Given the description of an element on the screen output the (x, y) to click on. 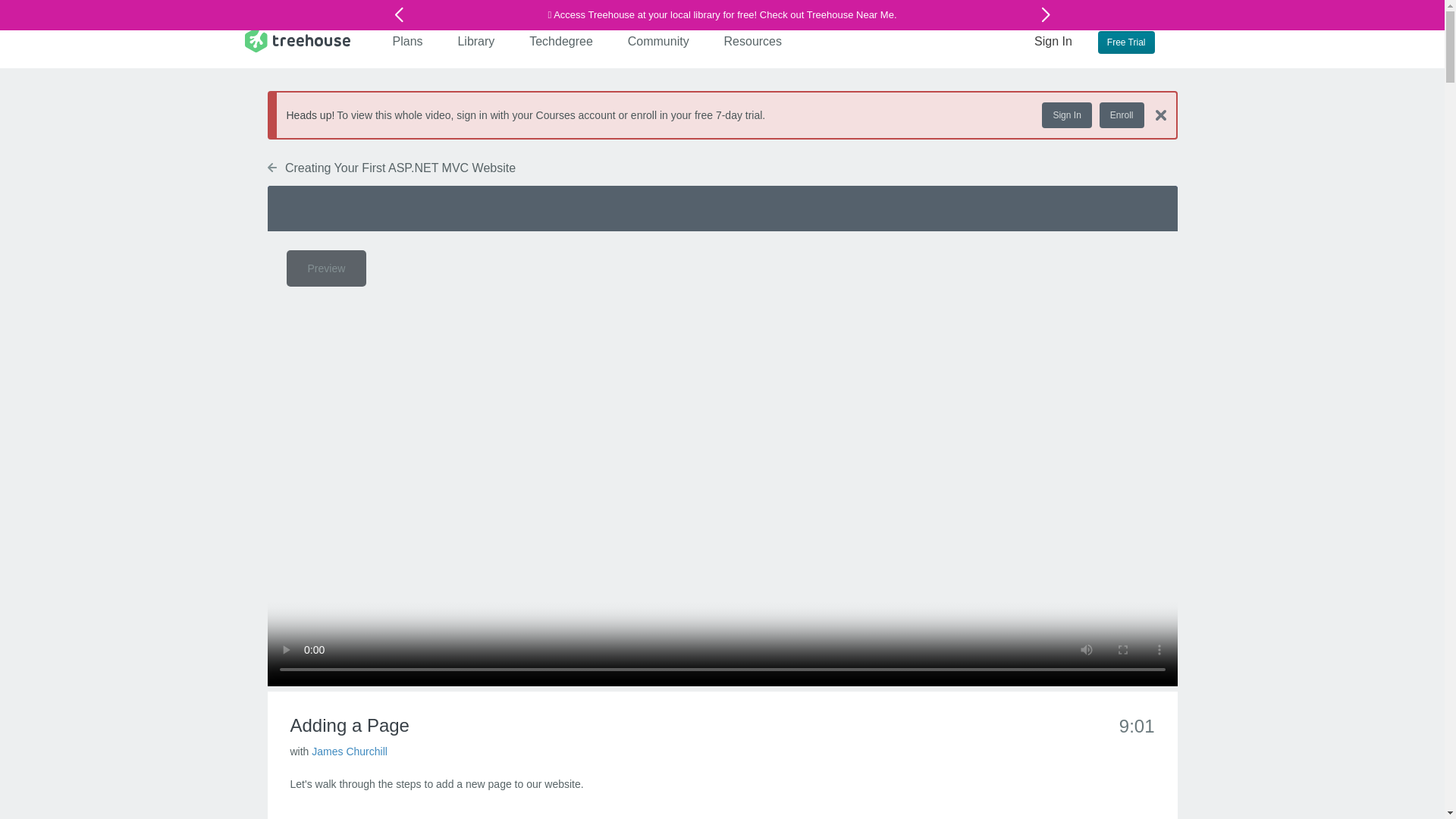
Close (1154, 114)
Treehouse Near Me (849, 14)
Treehouse Logo (296, 39)
Plans (408, 41)
Treehouse Logo (296, 39)
Close (1161, 114)
Library (475, 41)
